Given the description of an element on the screen output the (x, y) to click on. 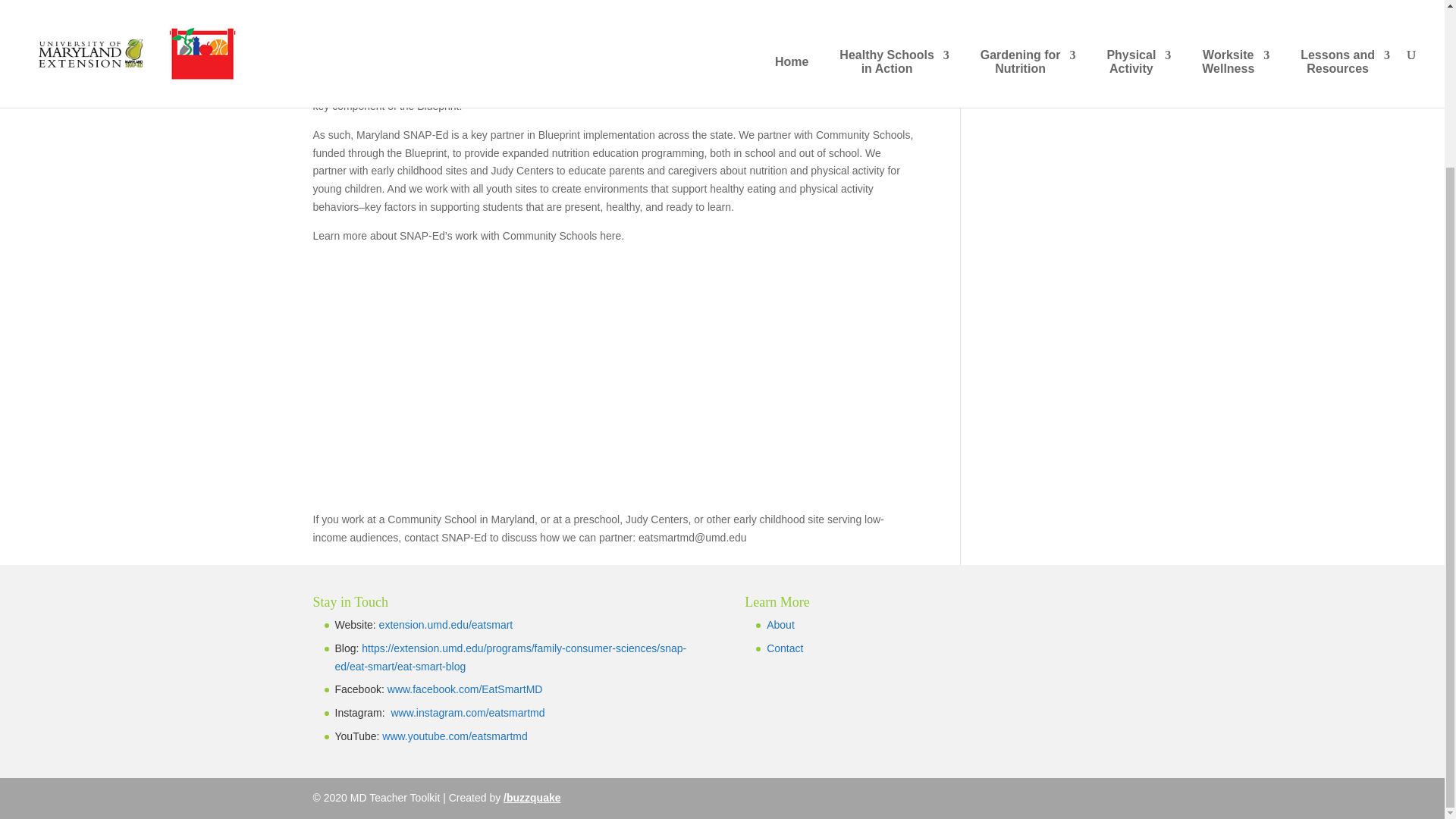
YouTube video player (524, 375)
